Given the description of an element on the screen output the (x, y) to click on. 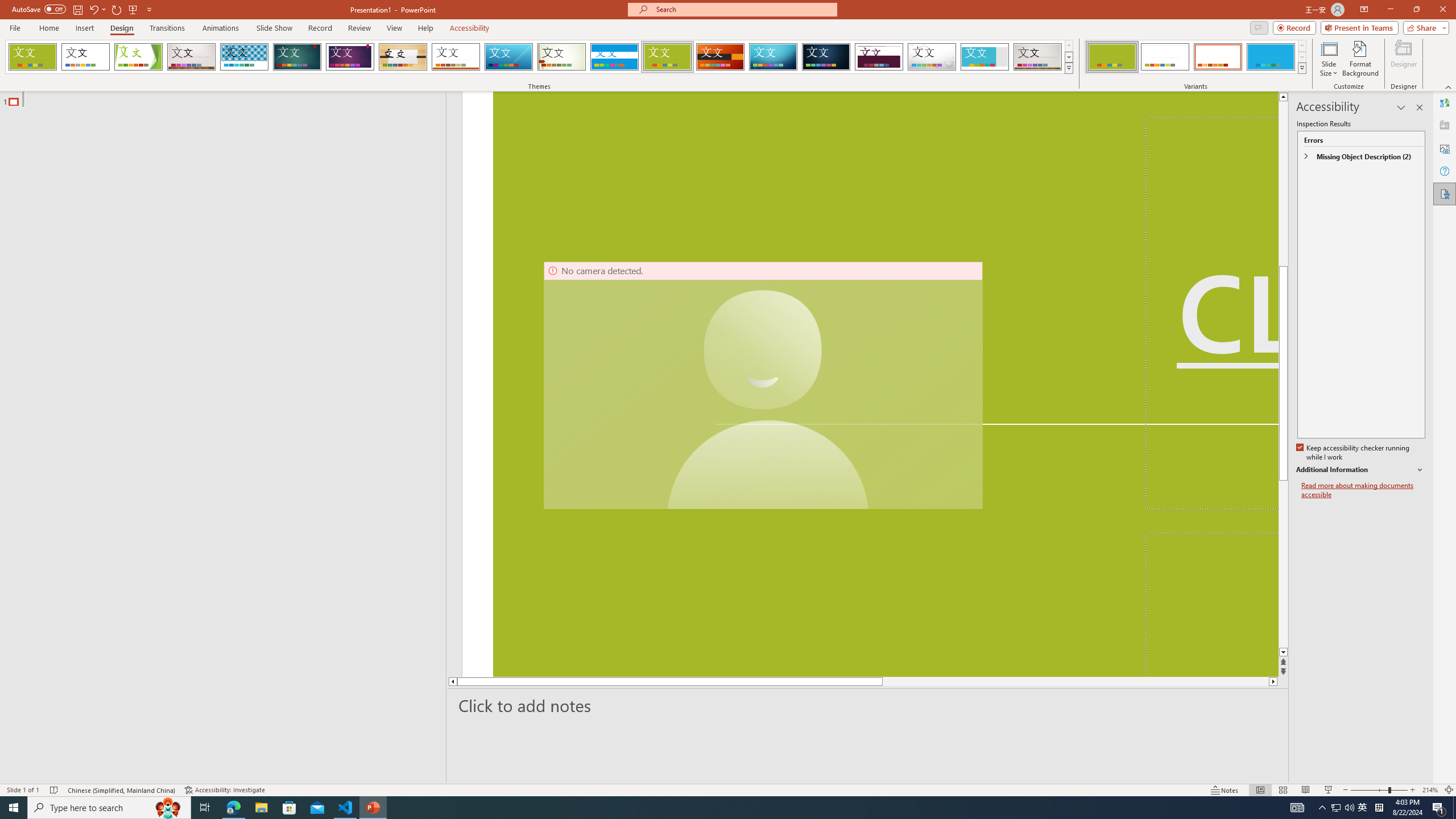
Slice (508, 56)
Circuit (772, 56)
Zoom 214% (1430, 790)
Facet (138, 56)
Frame (984, 56)
Keep accessibility checker running while I work (1353, 452)
